Given the description of an element on the screen output the (x, y) to click on. 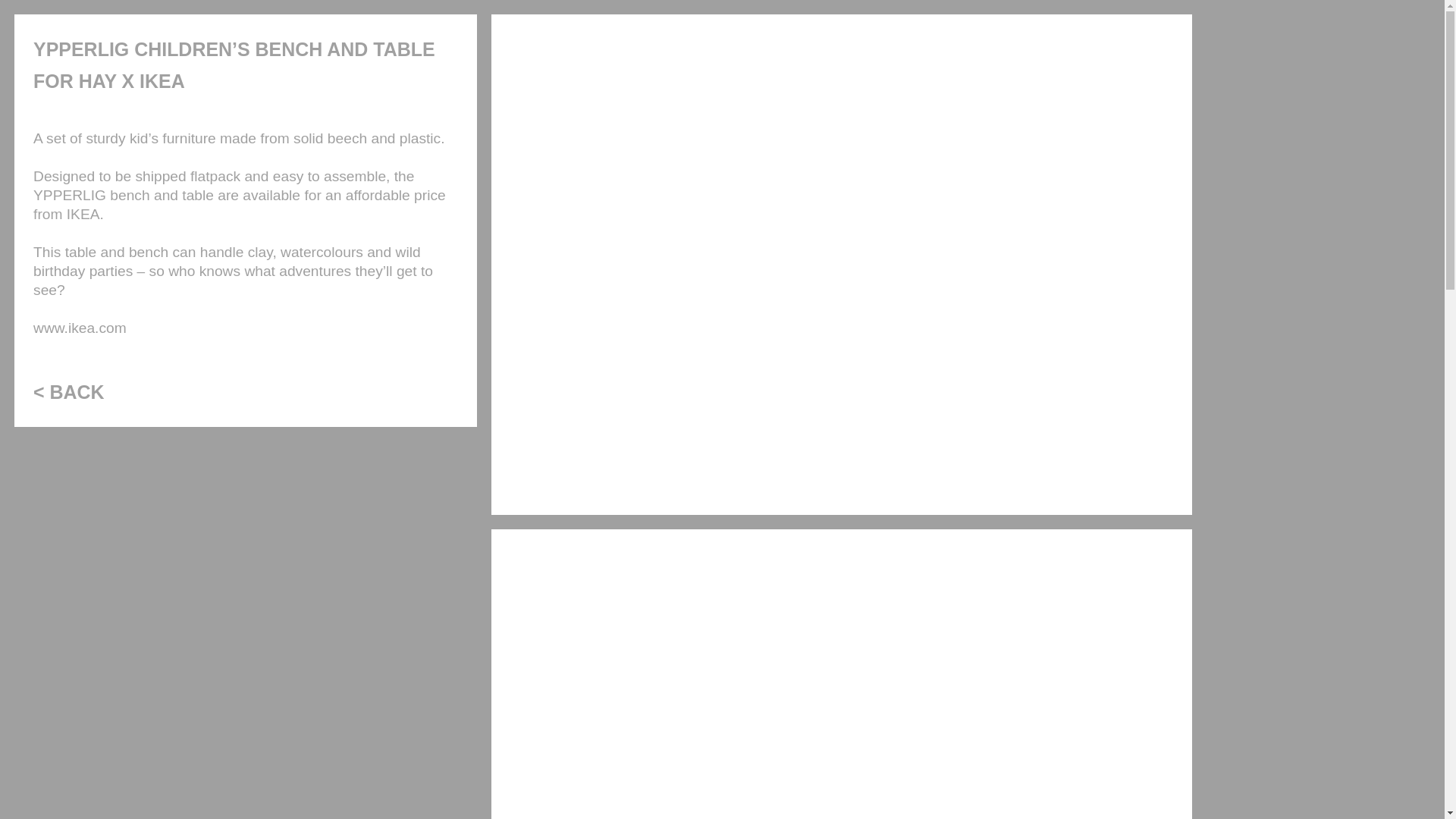
www.ikea.com Element type: text (79, 327)
< BACK Element type: text (68, 391)
